Given the description of an element on the screen output the (x, y) to click on. 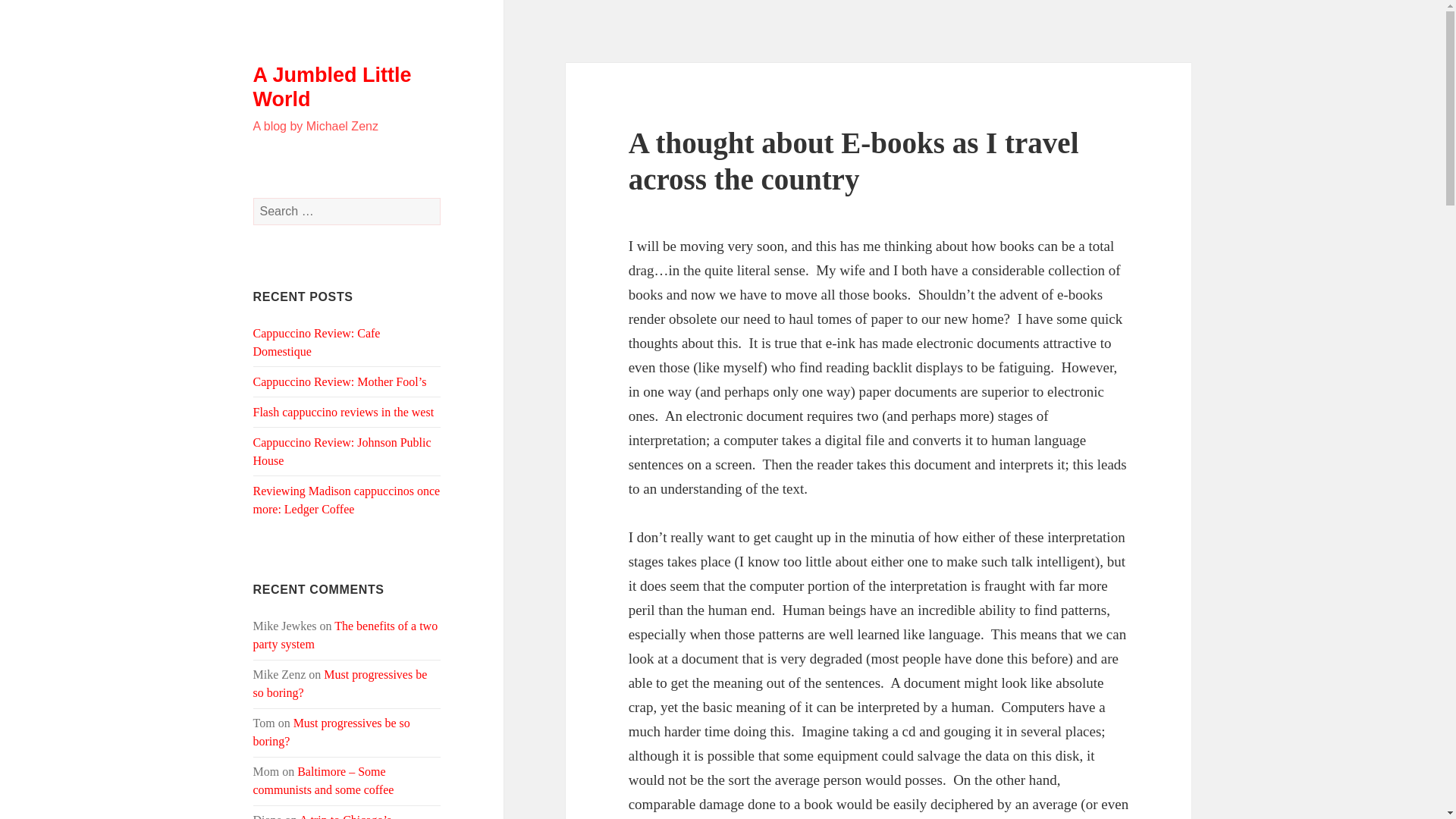
Cappuccino Review: Cafe Domestique (316, 341)
A Jumbled Little World (332, 86)
Reviewing Madison cappuccinos once more: Ledger Coffee (347, 499)
Cappuccino Review: Johnson Public House (341, 450)
The benefits of a two party system (345, 634)
Must progressives be so boring? (340, 683)
Must progressives be so boring? (331, 731)
Flash cappuccino reviews in the west (343, 411)
